Given the description of an element on the screen output the (x, y) to click on. 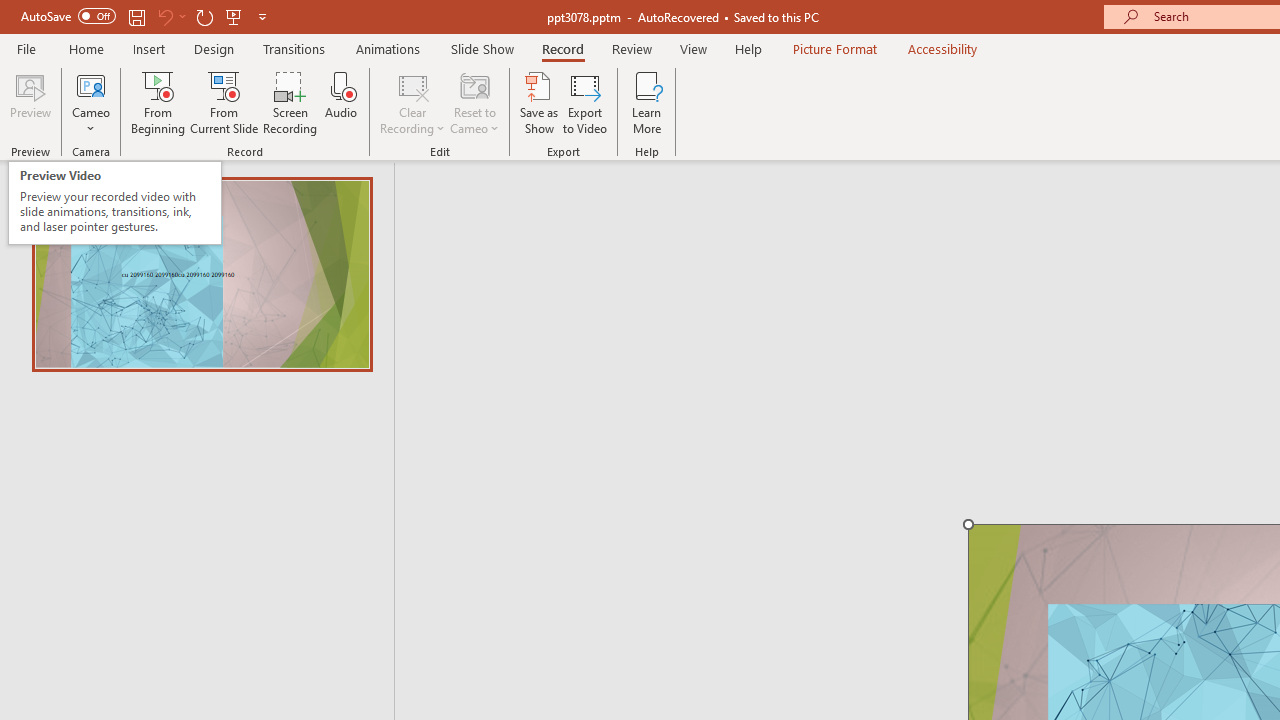
Export to Video (585, 102)
From Beginning... (158, 102)
Reset to Cameo (474, 102)
